Given the description of an element on the screen output the (x, y) to click on. 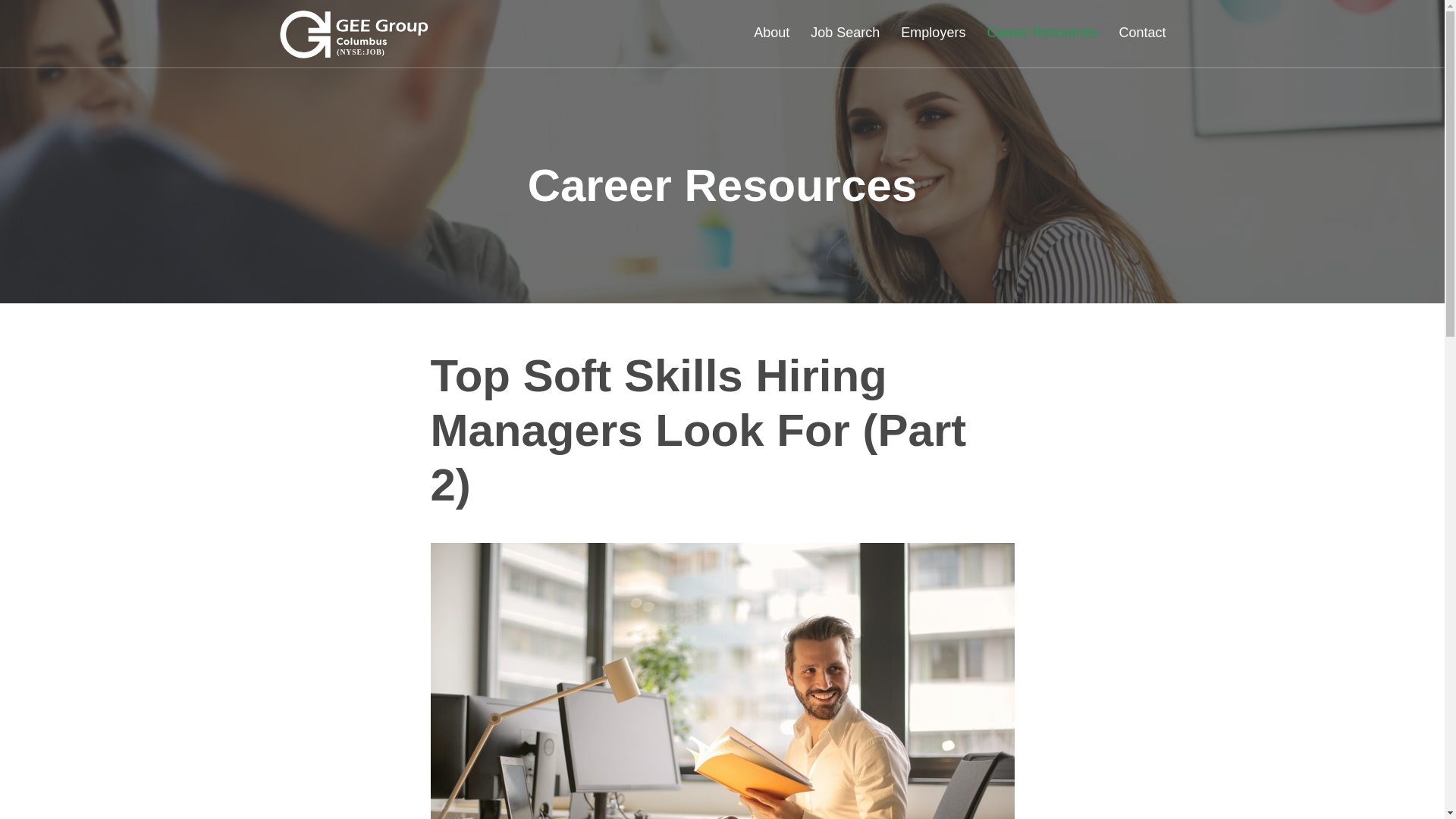
Career Resources (1041, 45)
Contact (1137, 45)
Employers (932, 45)
Job Search (844, 45)
About (770, 45)
